Given the description of an element on the screen output the (x, y) to click on. 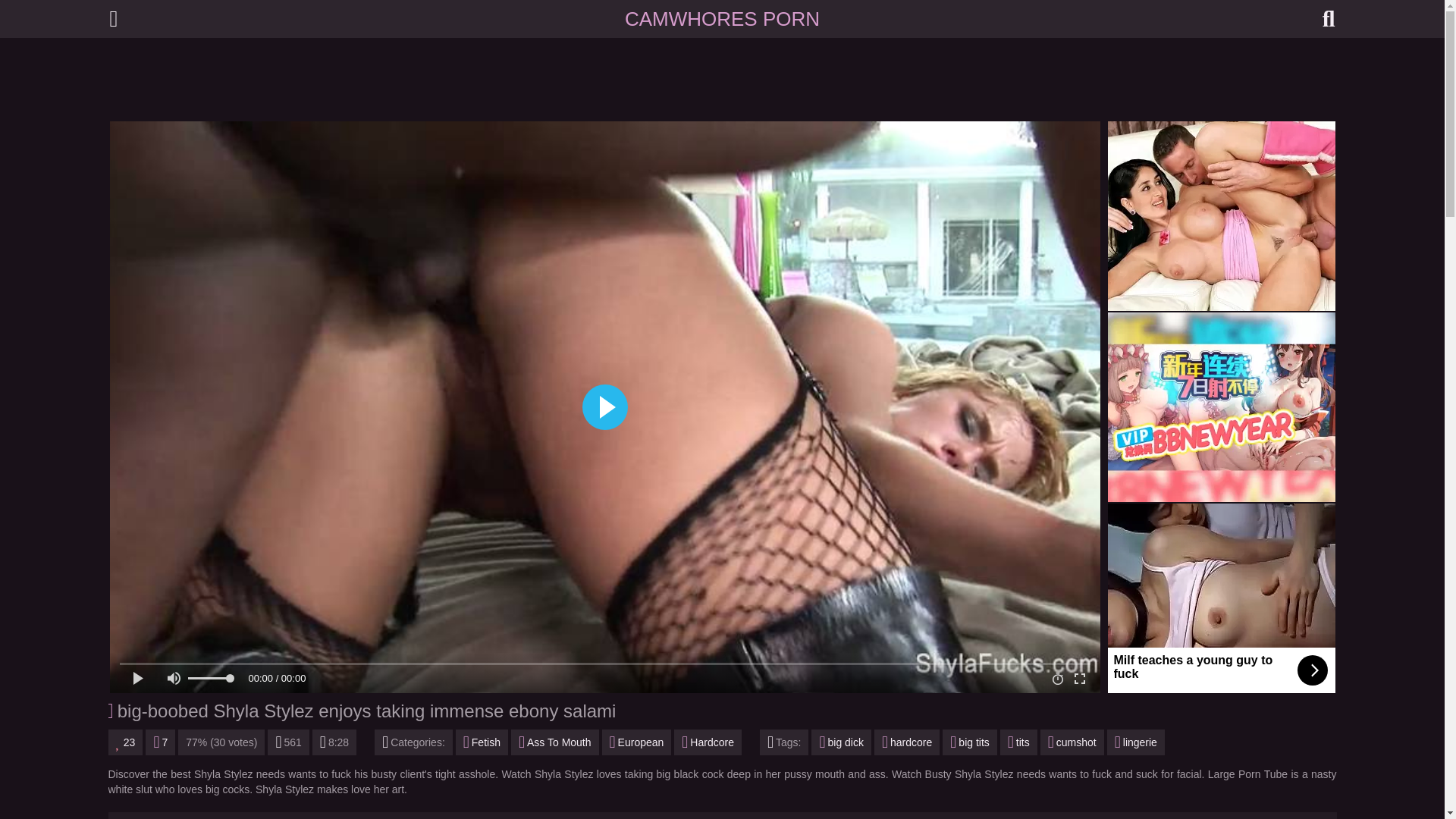
7 (159, 742)
European (636, 742)
big dick (840, 742)
Ass To Mouth (554, 742)
hardcore (907, 742)
cumshot (1072, 742)
Fetish (481, 742)
I Like It! (124, 742)
Hardcore (707, 742)
23 (124, 742)
